Given the description of an element on the screen output the (x, y) to click on. 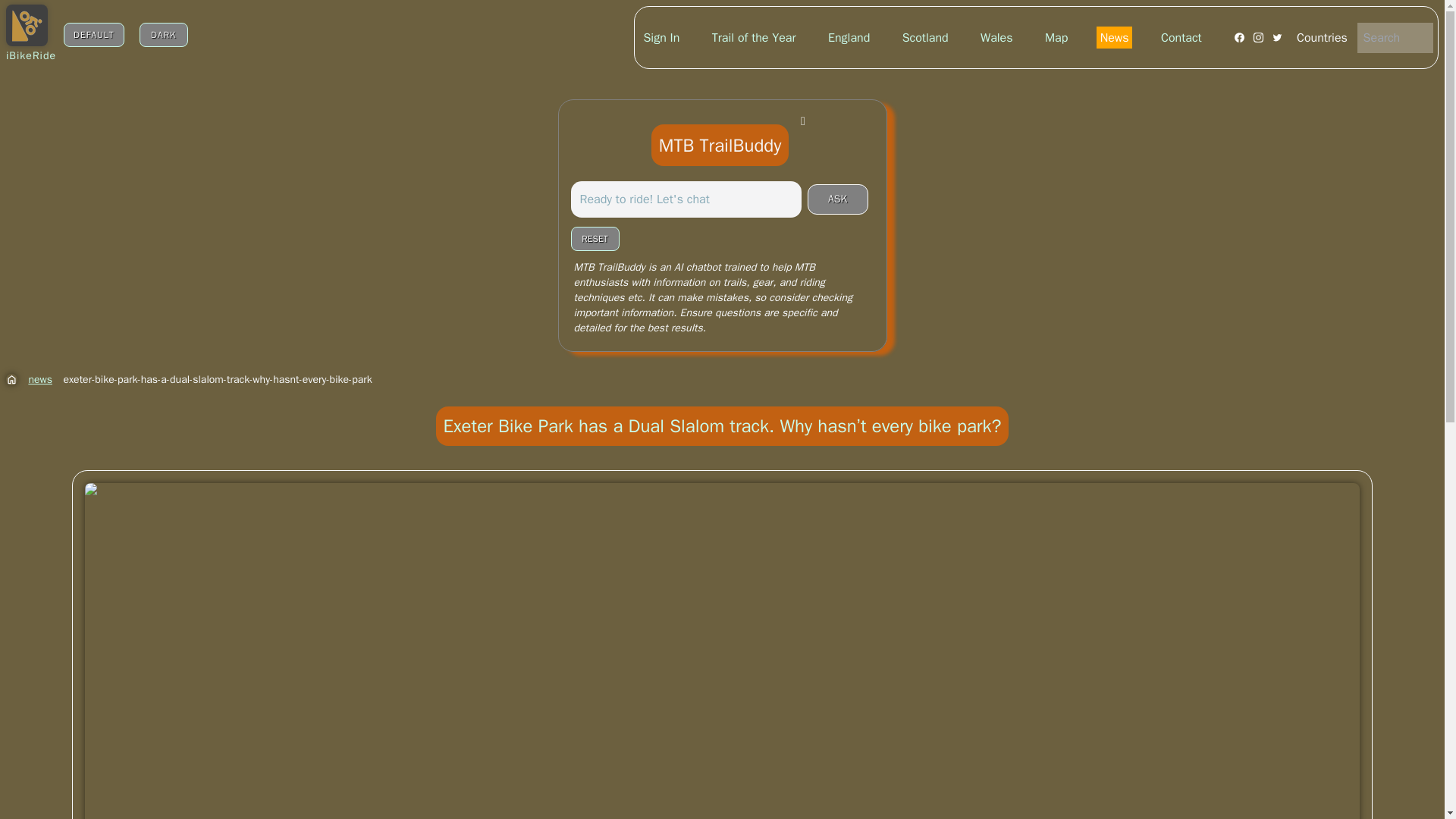
DEFAULT (93, 34)
Map (1056, 37)
Scotland (925, 37)
Contact (1181, 37)
Wales (996, 37)
News (1114, 37)
England (848, 37)
Trail of the Year (753, 37)
DARK (163, 34)
Sign In (662, 37)
